Given the description of an element on the screen output the (x, y) to click on. 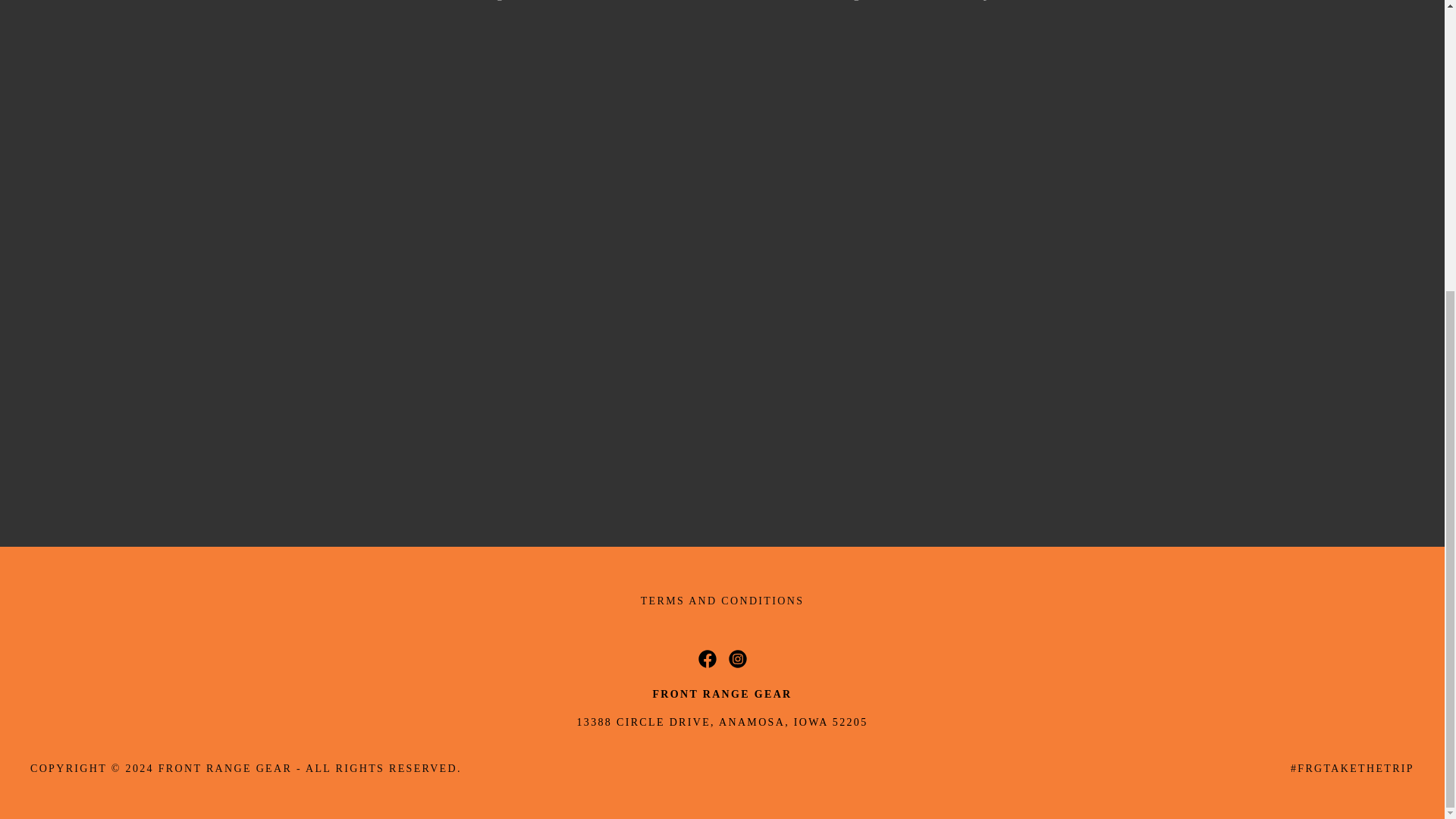
TERMS AND CONDITIONS (722, 600)
